Given the description of an element on the screen output the (x, y) to click on. 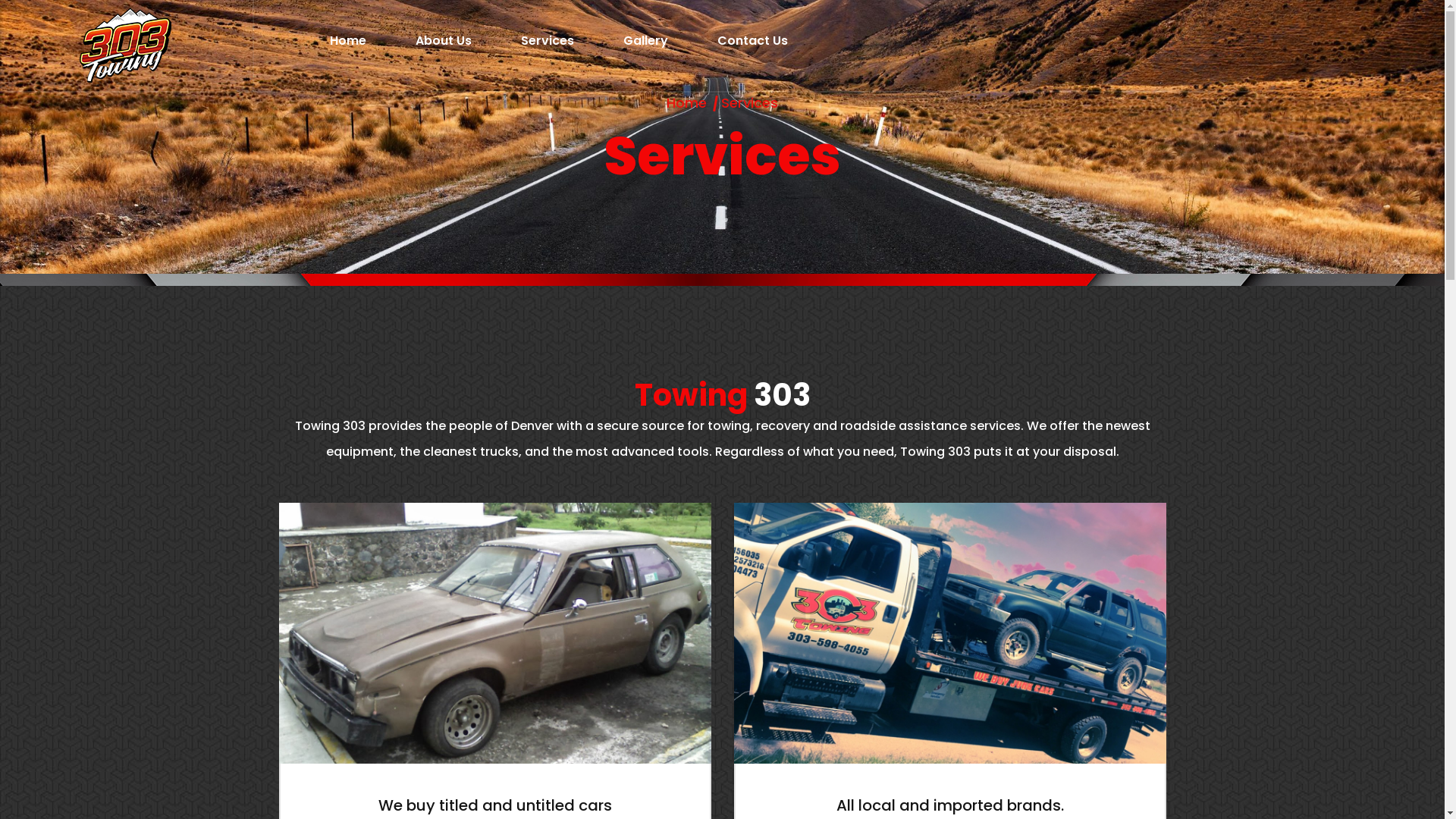
Services Element type: text (547, 40)
Gallery Element type: text (645, 40)
Home Element type: text (686, 102)
Home Element type: text (347, 40)
We buy titled and untitled cars Element type: text (494, 804)
Contact Us Element type: text (752, 40)
All local and imported brands. Element type: text (949, 804)
About Us Element type: text (443, 40)
